Given the description of an element on the screen output the (x, y) to click on. 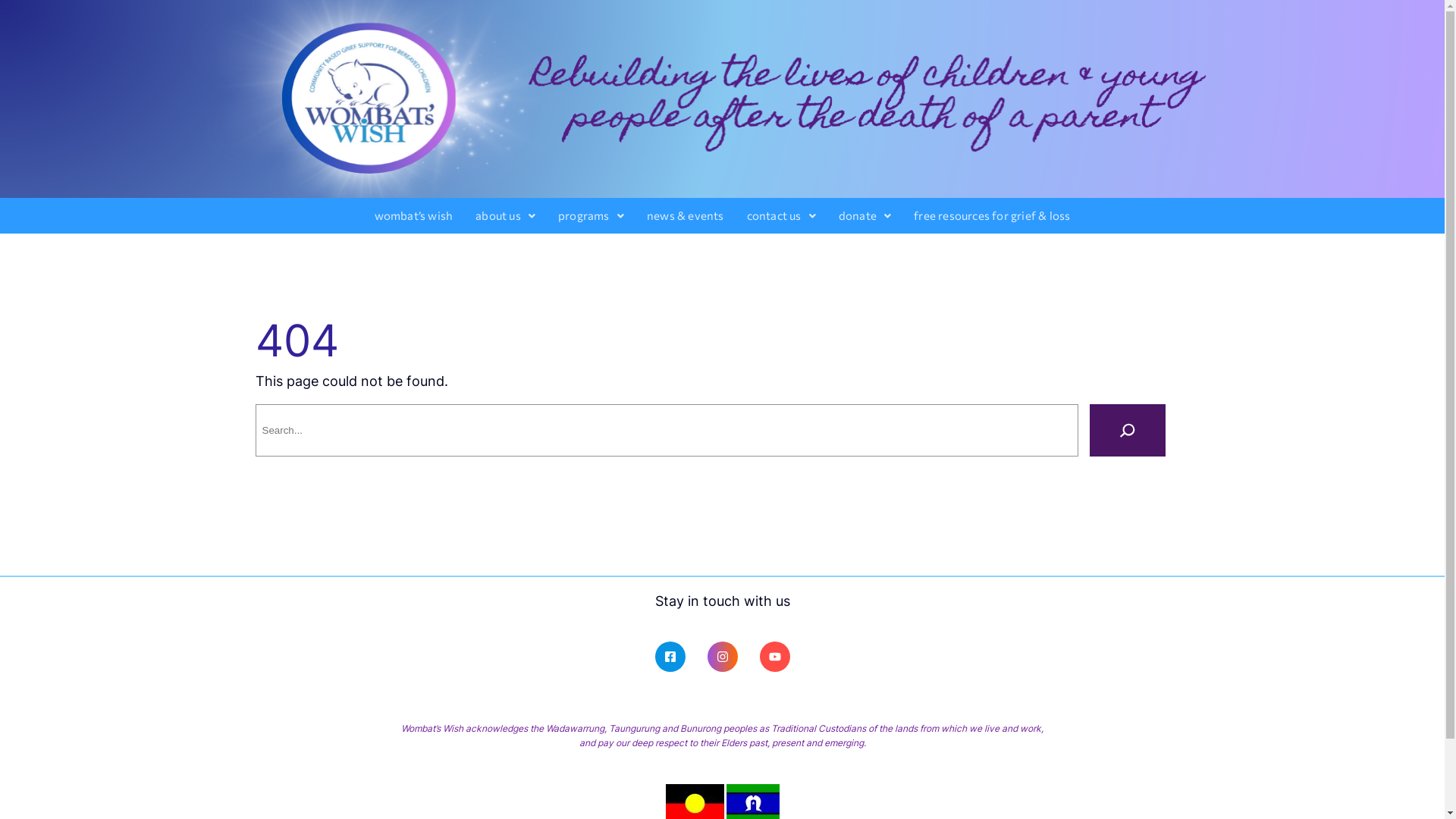
free resources for grief & loss Element type: text (991, 215)
donate Element type: text (864, 215)
contact us Element type: text (781, 215)
about us Element type: text (505, 215)
news & events Element type: text (685, 215)
programs Element type: text (590, 215)
